Given the description of an element on the screen output the (x, y) to click on. 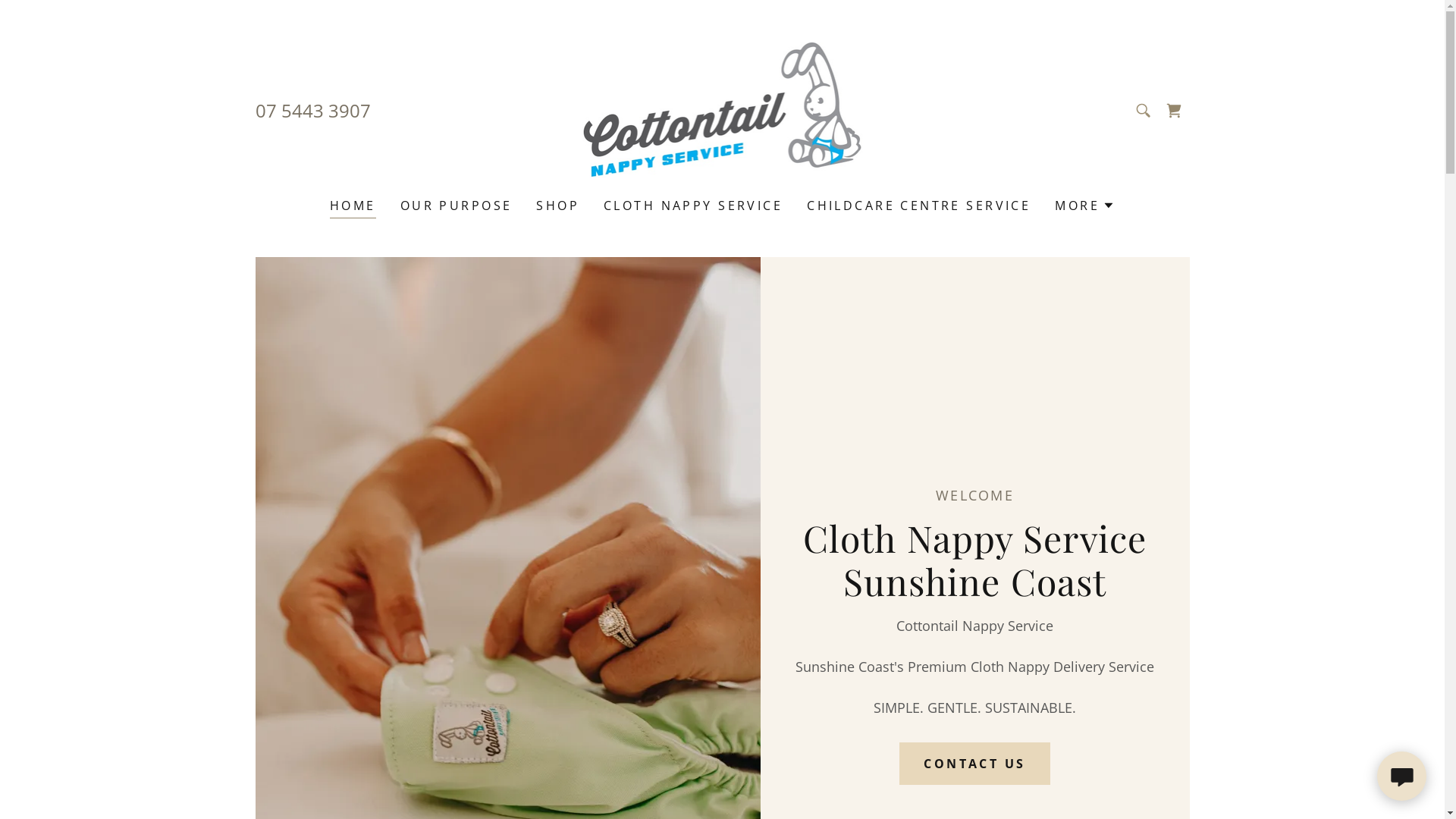
CHILDCARE CENTRE SERVICE Element type: text (918, 205)
MORE Element type: text (1084, 205)
CLOTH NAPPY SERVICE Element type: text (693, 205)
OUR PURPOSE Element type: text (456, 205)
HOME Element type: text (352, 207)
07 5443 3907 Element type: text (312, 109)
CONTACT US Element type: text (974, 763)
SHOP Element type: text (557, 205)
